Given the description of an element on the screen output the (x, y) to click on. 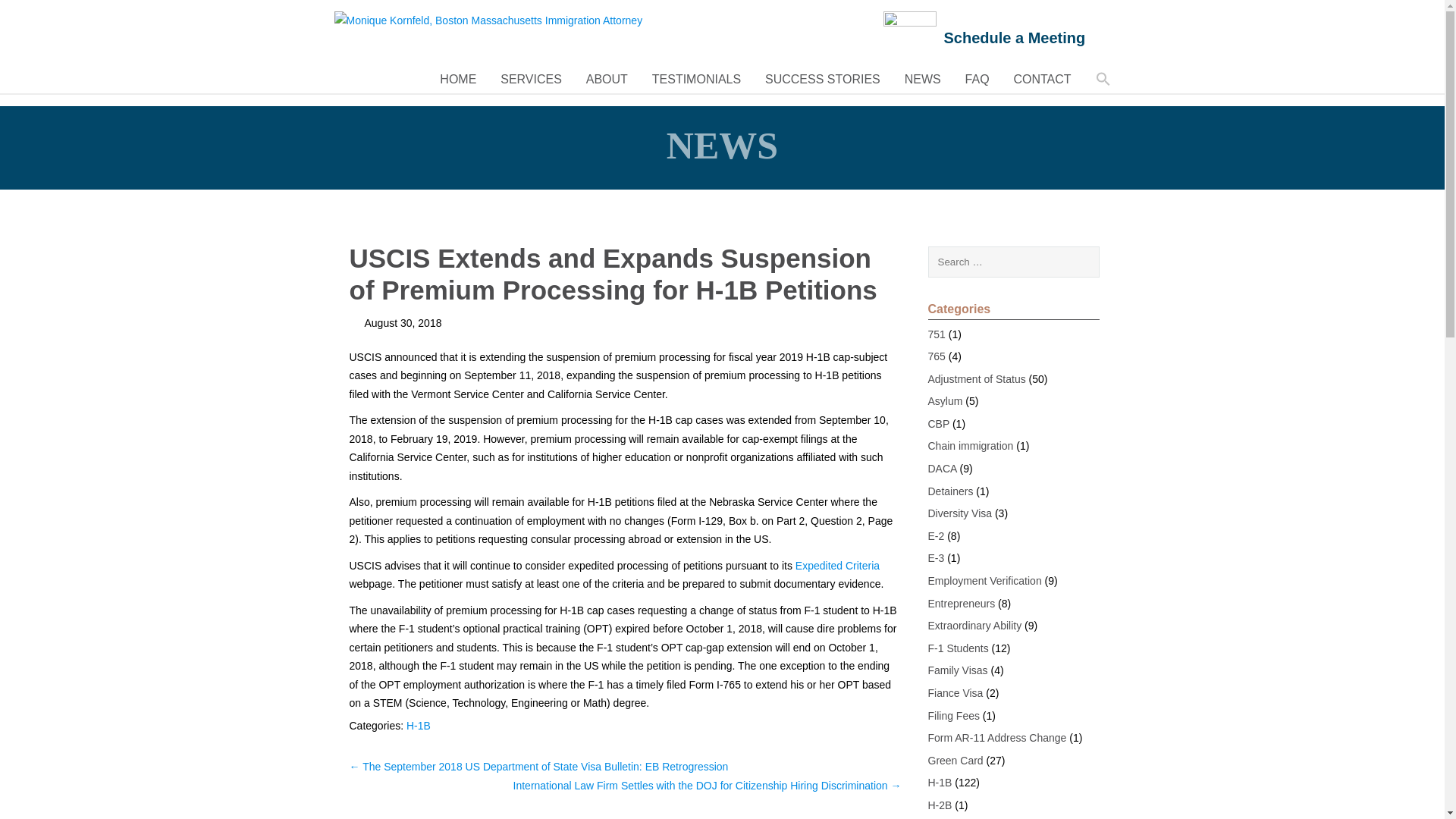
NEWS (922, 78)
CONTACT (1042, 78)
Asylum (945, 400)
H-1B (418, 725)
Expedited Criteria (836, 565)
765 (936, 356)
ABOUT (606, 78)
TESTIMONIALS (696, 78)
Schedule a Meeting (1013, 37)
SUCCESS STORIES (822, 78)
